Given the description of an element on the screen output the (x, y) to click on. 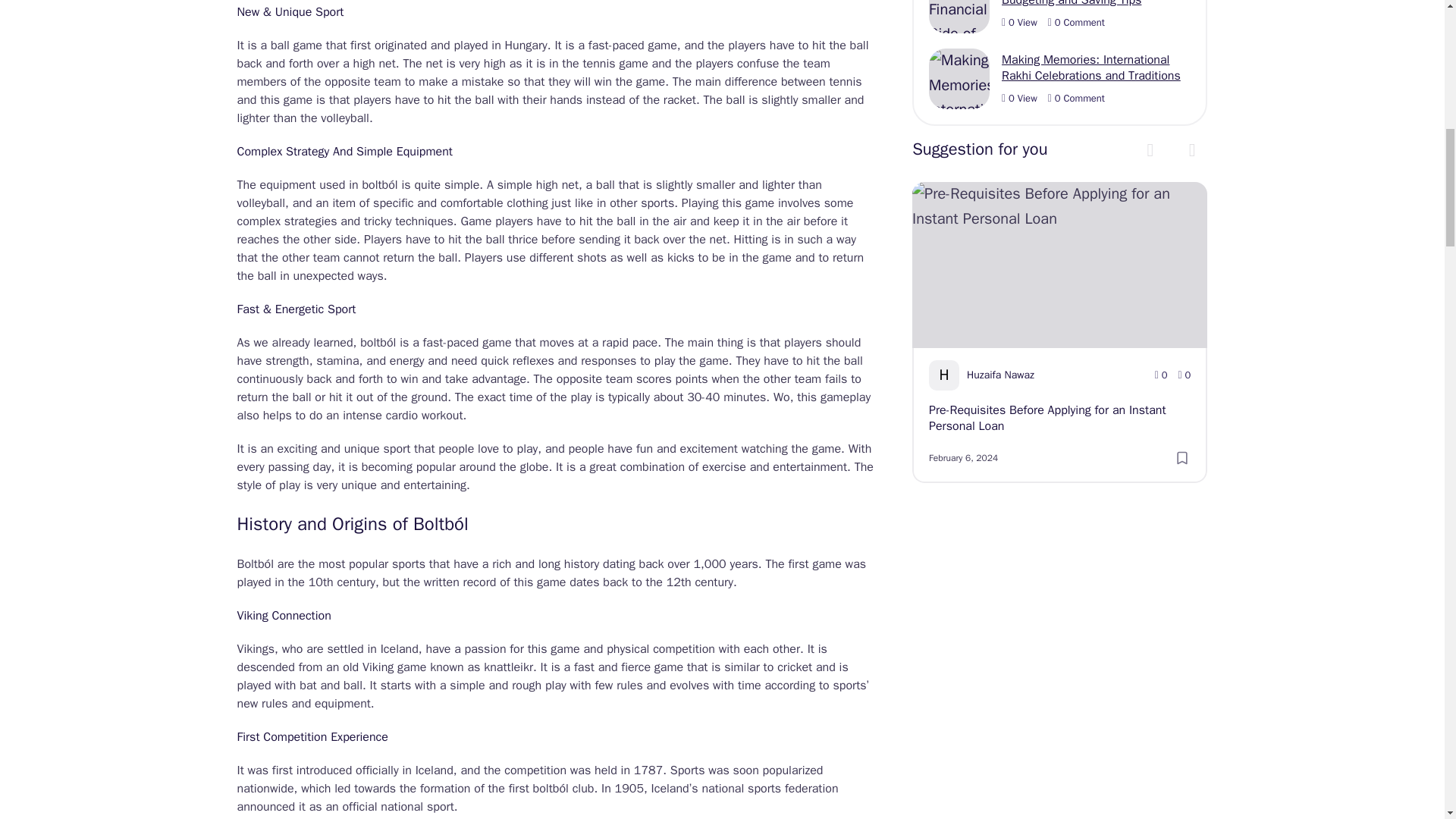
Comment (1076, 98)
View (1018, 22)
Comment (1076, 22)
View (1018, 98)
